Given the description of an element on the screen output the (x, y) to click on. 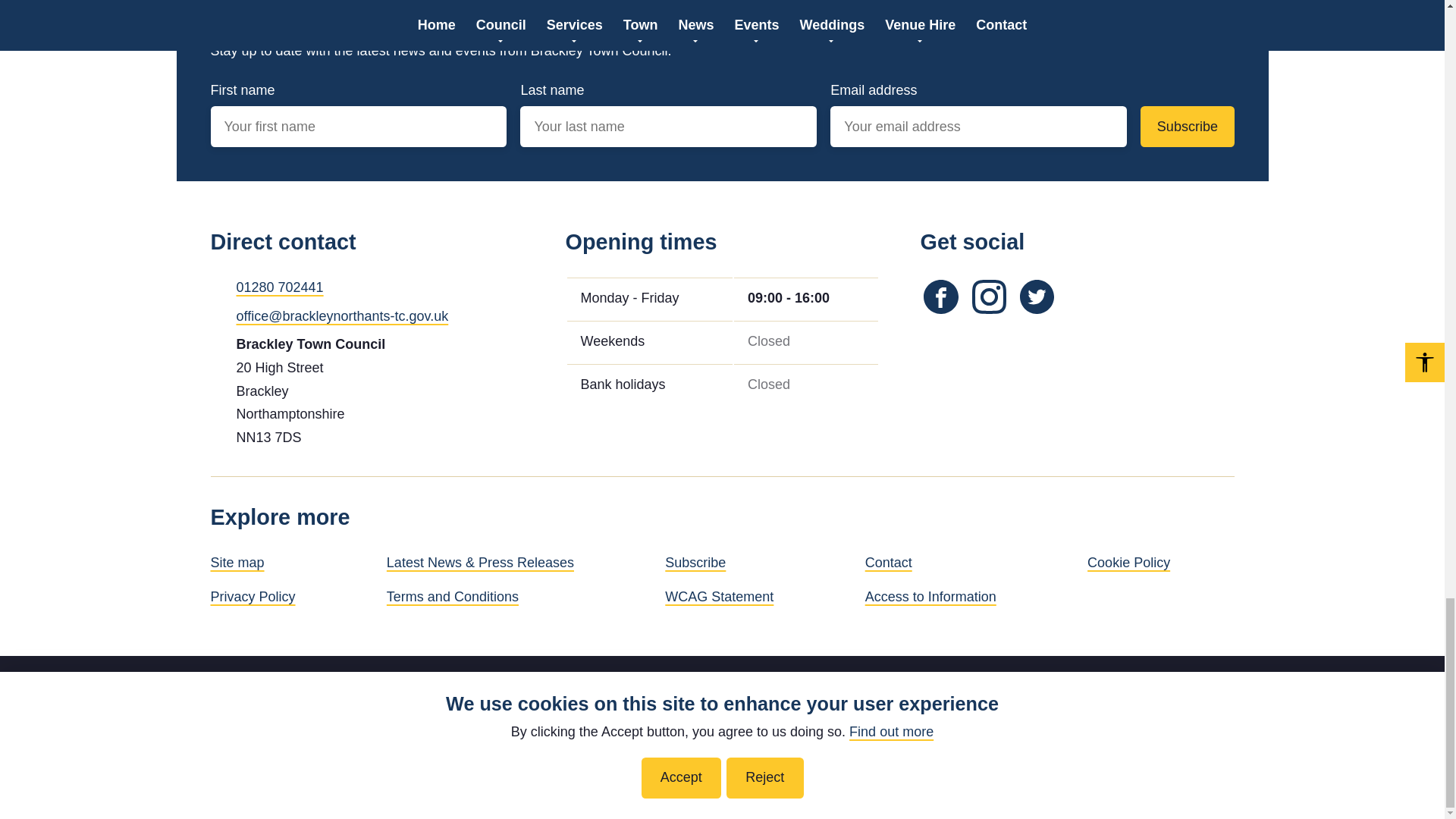
Placemarker (216, 342)
Mail (216, 314)
Phone (216, 285)
